Given the description of an element on the screen output the (x, y) to click on. 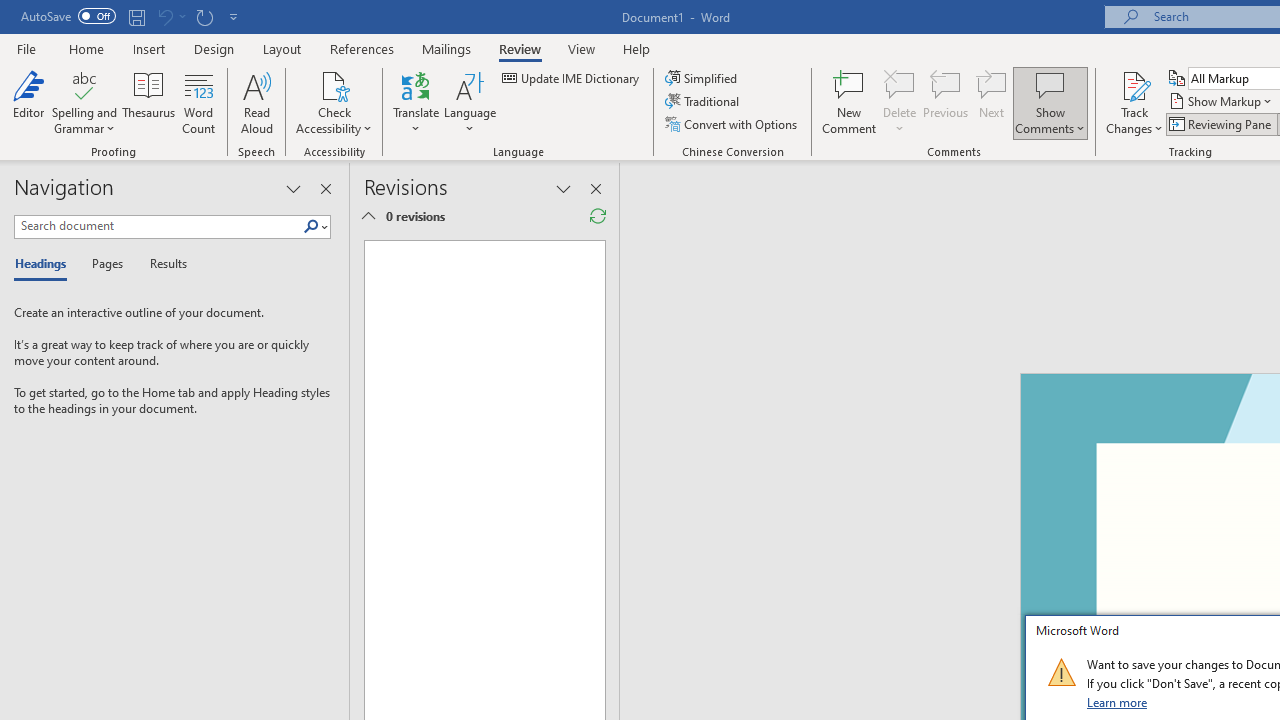
Spelling and Grammar (84, 84)
Delete (900, 102)
Search document (157, 226)
Mailings (447, 48)
Traditional (703, 101)
Customize Quick Access Toolbar (234, 15)
View (582, 48)
Repeat Doc Close (204, 15)
Show Comments (1050, 102)
Previous (946, 102)
Can't Undo (164, 15)
Check Accessibility (334, 84)
Search (311, 227)
System (10, 11)
Pages (105, 264)
